Given the description of an element on the screen output the (x, y) to click on. 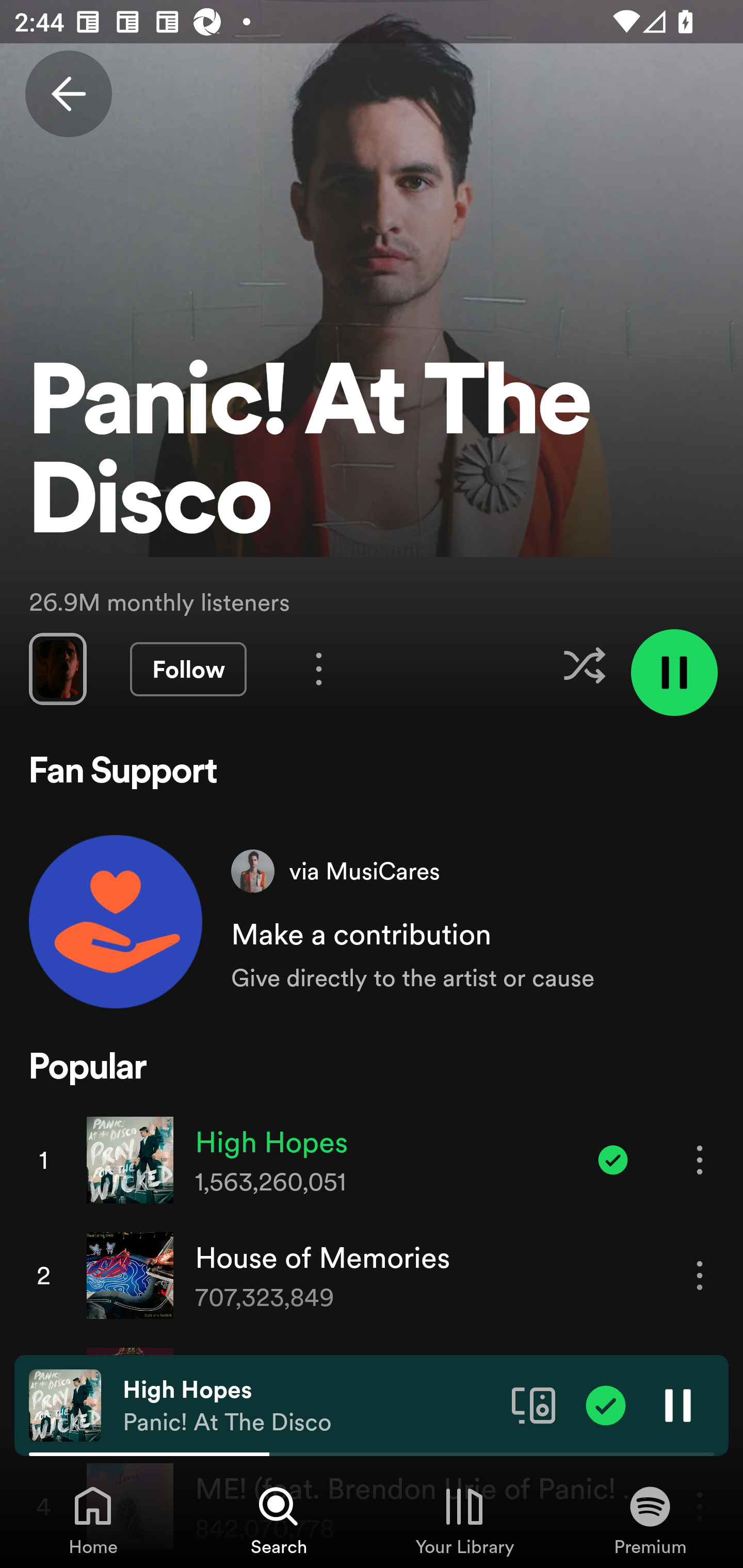
Back (68, 93)
Enable shuffle for this artist (583, 665)
Swipe through previews of tracks from this artist. (57, 668)
More options for artist Panic! At The Disco (318, 668)
Pause artist (674, 672)
Follow (188, 669)
Item added (612, 1159)
More options for song High Hopes (699, 1159)
More options for song House of Memories (699, 1275)
High Hopes Panic! At The Disco (309, 1405)
The cover art of the currently playing track (64, 1404)
Connect to a device. Opens the devices menu (533, 1404)
Item added (605, 1404)
Pause (677, 1404)
Home, Tab 1 of 4 Home Home (92, 1519)
Search, Tab 2 of 4 Search Search (278, 1519)
Your Library, Tab 3 of 4 Your Library Your Library (464, 1519)
Premium, Tab 4 of 4 Premium Premium (650, 1519)
